Given the description of an element on the screen output the (x, y) to click on. 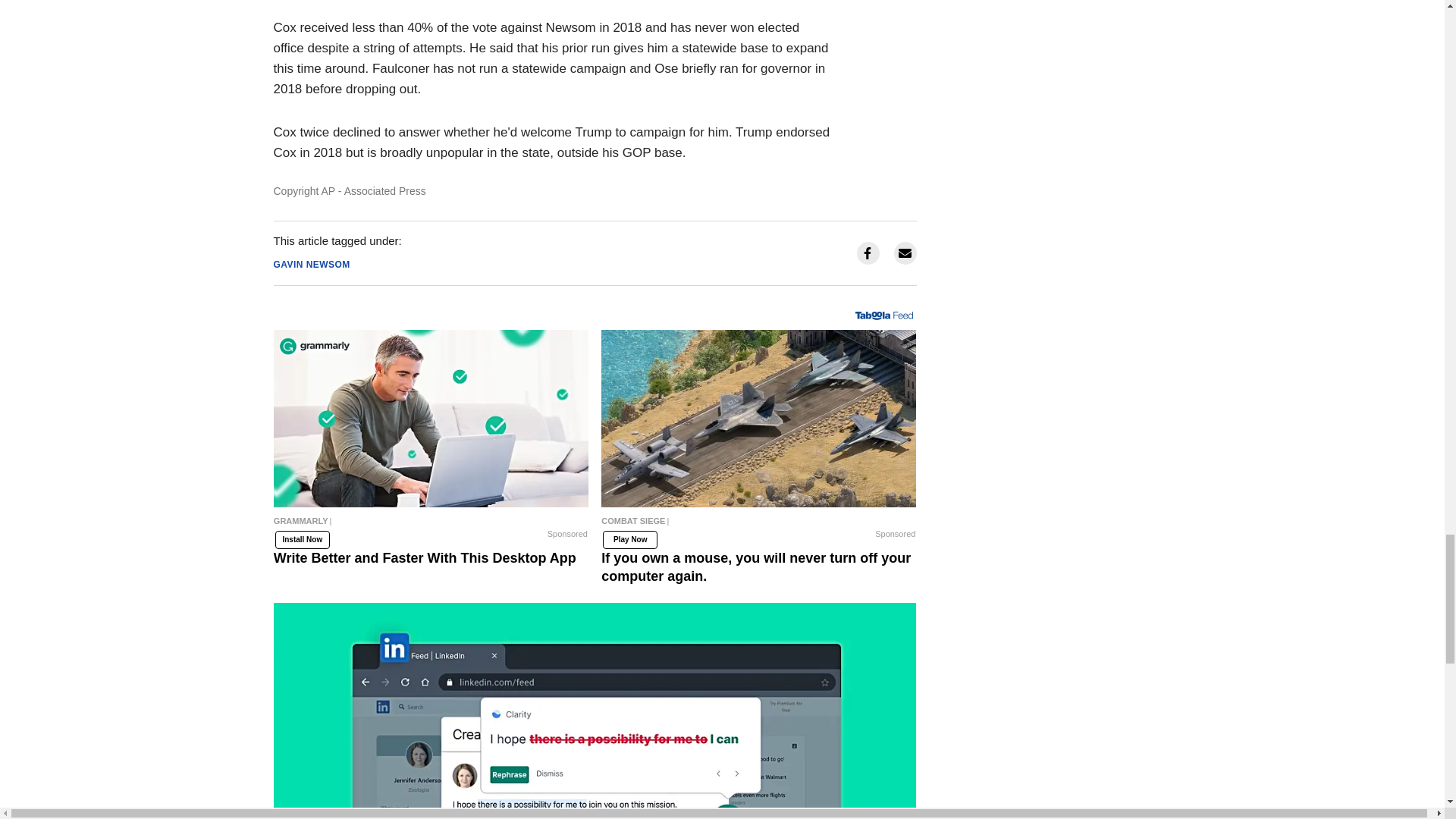
Write Better and Faster With This Desktop App (430, 524)
GAVIN NEWSOM (311, 264)
Write Better and Faster With This Desktop App (430, 418)
